Given the description of an element on the screen output the (x, y) to click on. 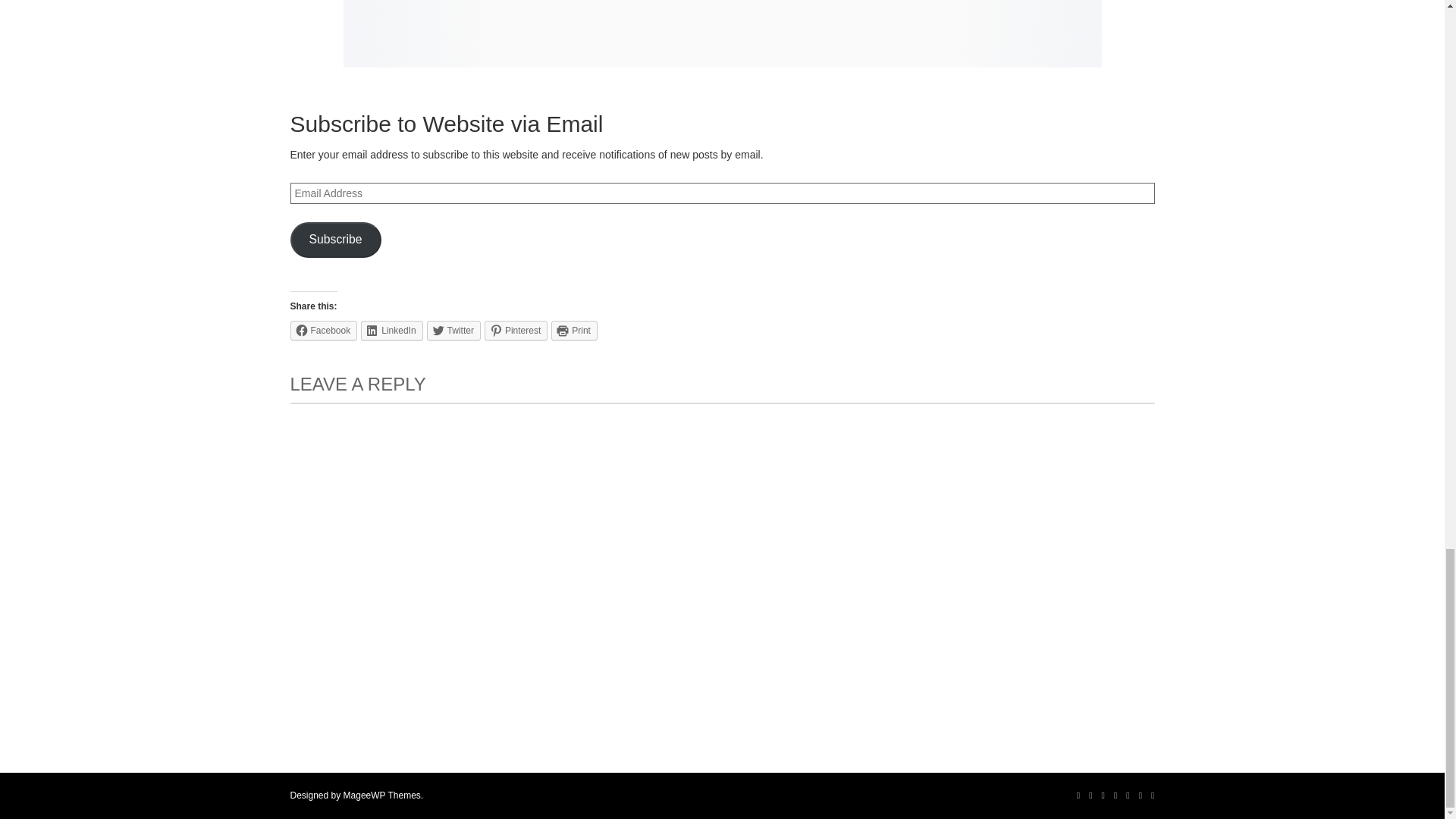
Email (1152, 795)
Pinterest (1127, 795)
Twitter (1090, 795)
Click to print (573, 330)
Click to share on Twitter (453, 330)
LinkedIn (391, 330)
Facebook (1078, 795)
Click to share on Pinterest (515, 330)
Click to share on LinkedIn (391, 330)
YouTube (1114, 795)
Print (573, 330)
Pinterest (515, 330)
LinkedIn (1103, 795)
Subscribe (334, 239)
